Given the description of an element on the screen output the (x, y) to click on. 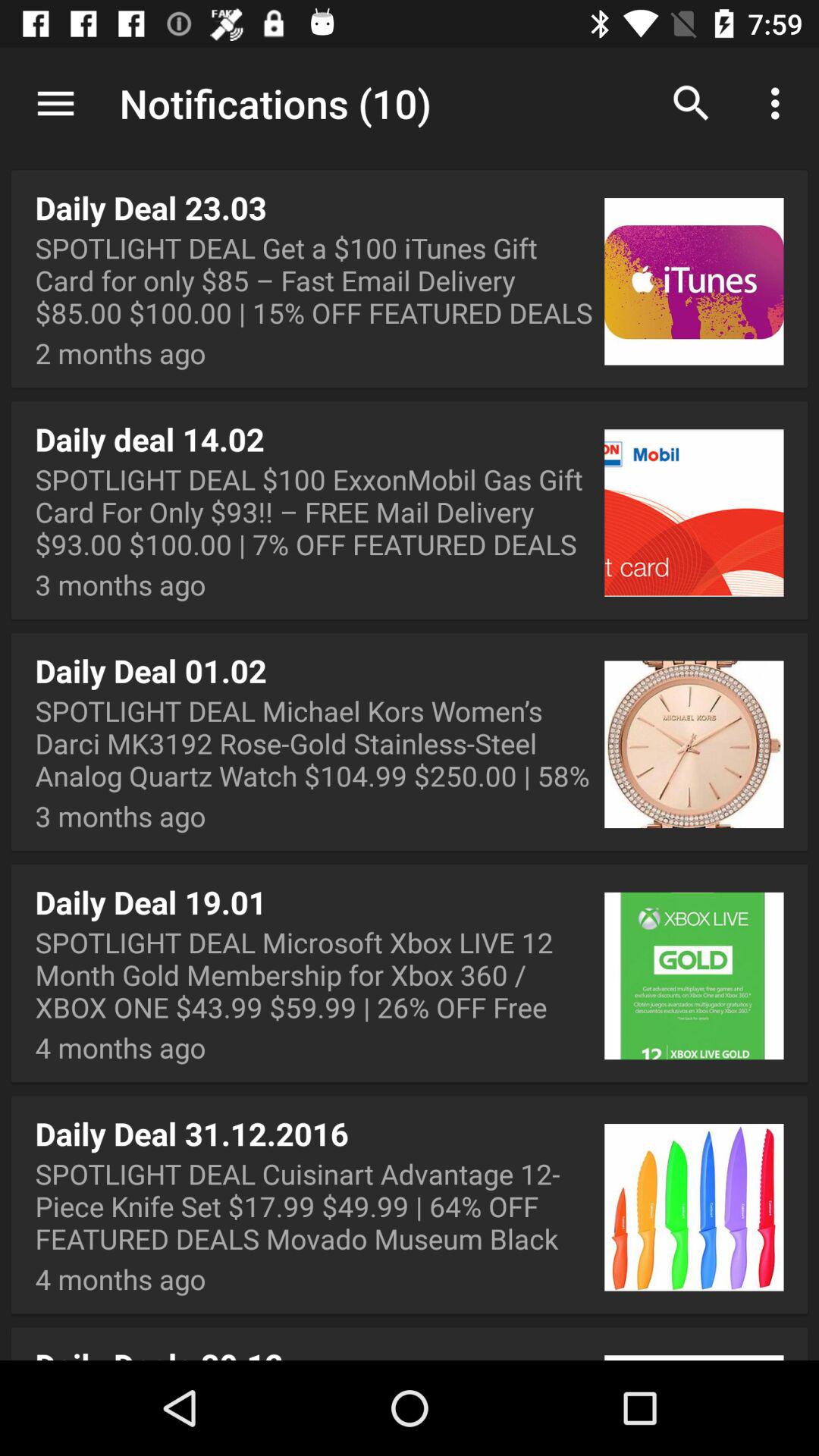
click icon above the daily deal 23 app (55, 103)
